Given the description of an element on the screen output the (x, y) to click on. 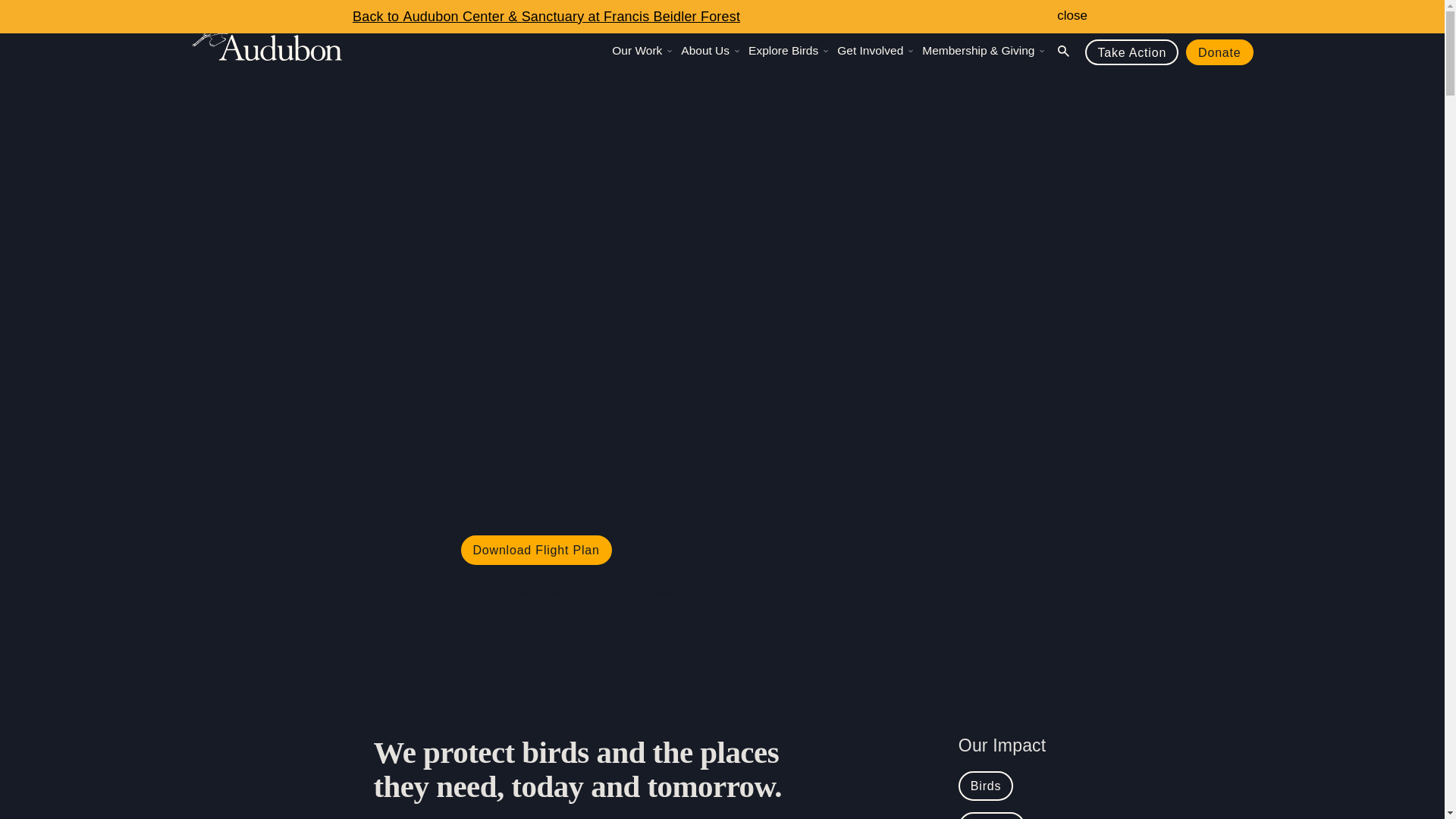
About Us (711, 50)
Magazine (1155, 20)
Audubon (266, 37)
Our Work (641, 50)
close (1072, 15)
